Given the description of an element on the screen output the (x, y) to click on. 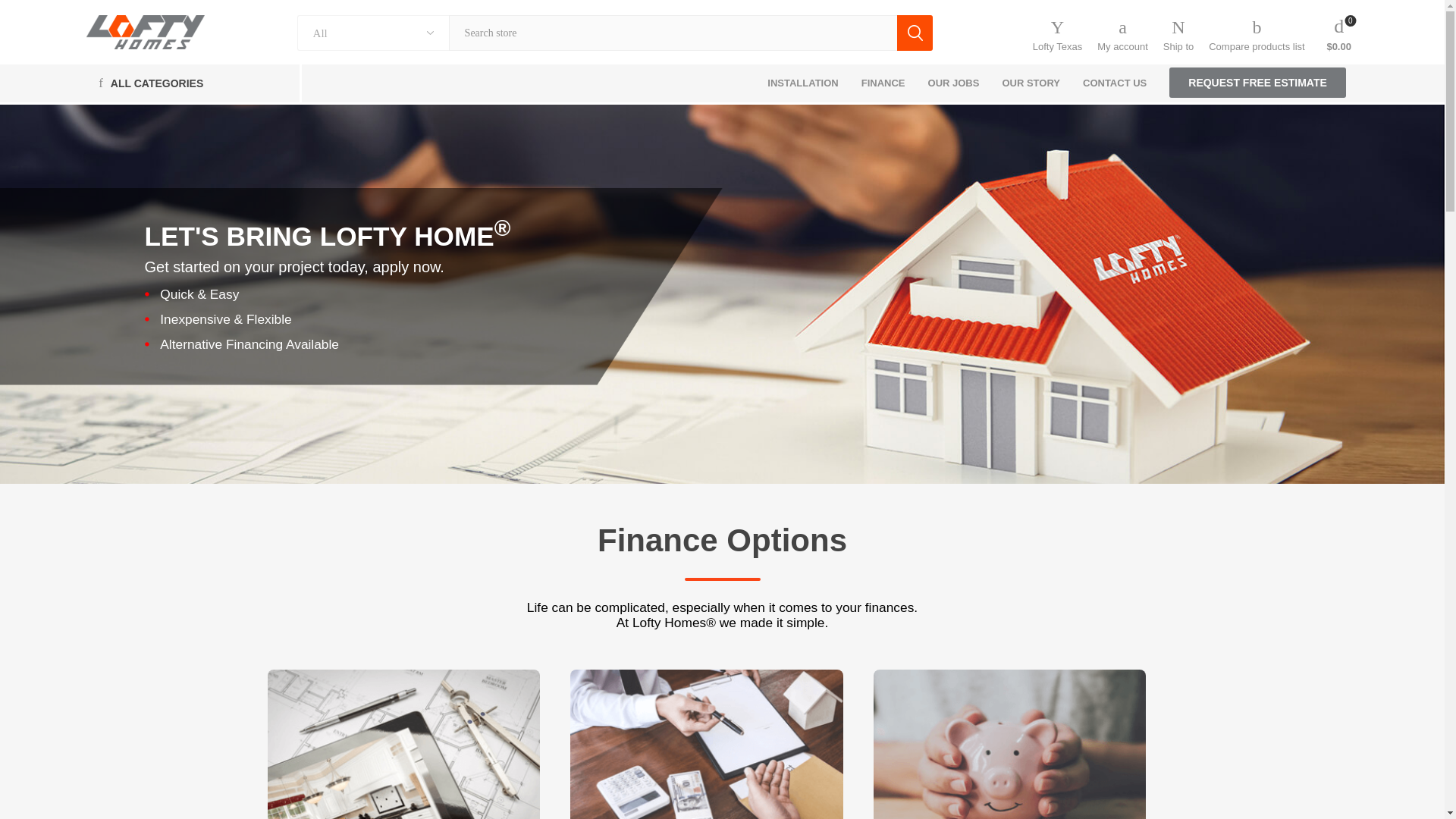
Request Free Estimate (1257, 82)
Lofty Texas (1057, 34)
Search (914, 32)
Log in (1122, 232)
Compare products list (1256, 34)
Lofty Texas (144, 32)
My account (1122, 34)
Search (914, 32)
Search (914, 32)
